Given the description of an element on the screen output the (x, y) to click on. 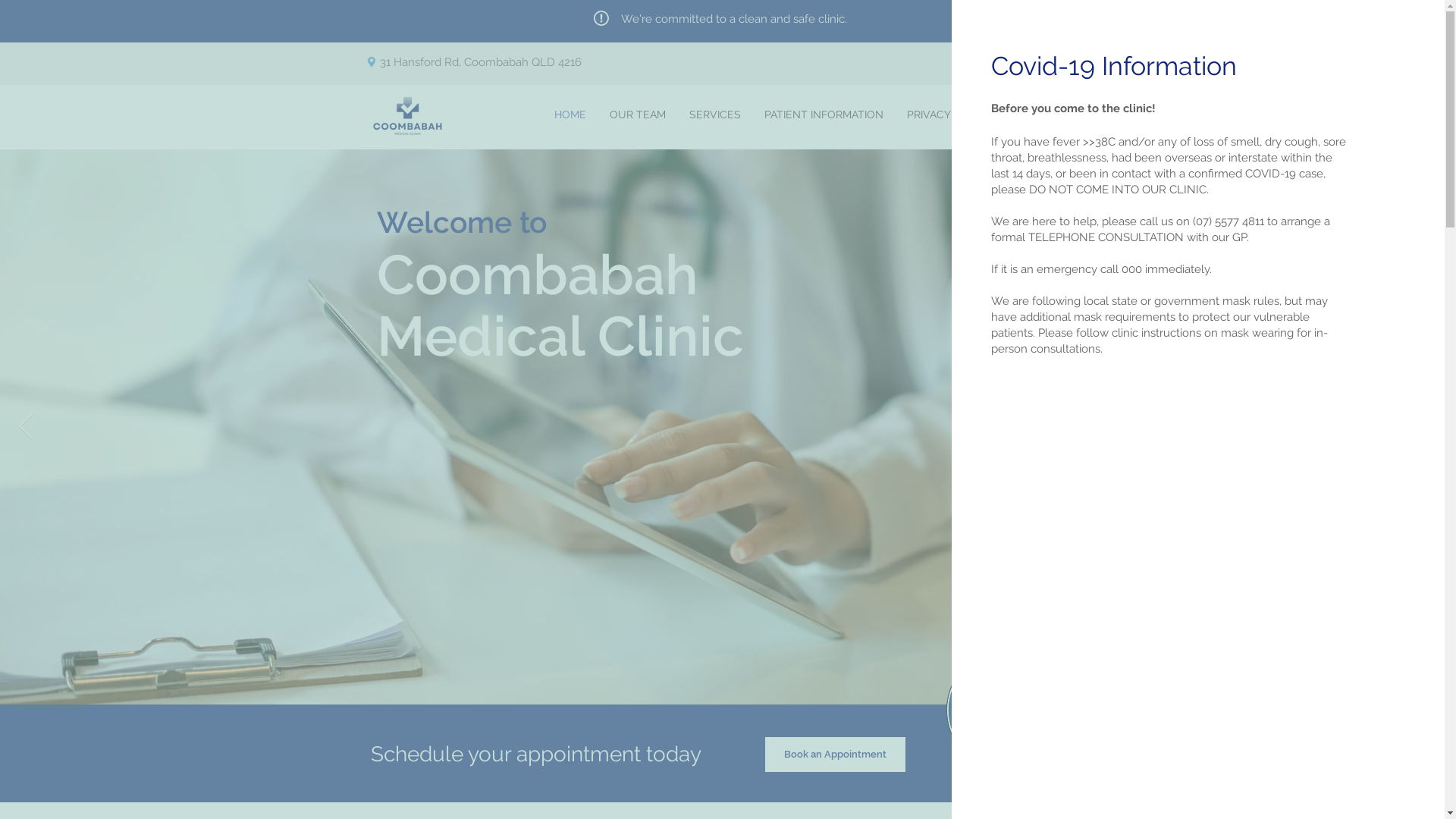
Book an Appointment Element type: text (834, 754)
OUR TEAM Element type: text (637, 114)
(07) 5577 4811 Element type: text (1043, 62)
PRIVACY POLICY Element type: text (948, 114)
CONTACT Element type: text (1039, 114)
SERVICES Element type: text (715, 114)
PATIENT INFORMATION Element type: text (823, 114)
HOME Element type: text (569, 114)
